Given the description of an element on the screen output the (x, y) to click on. 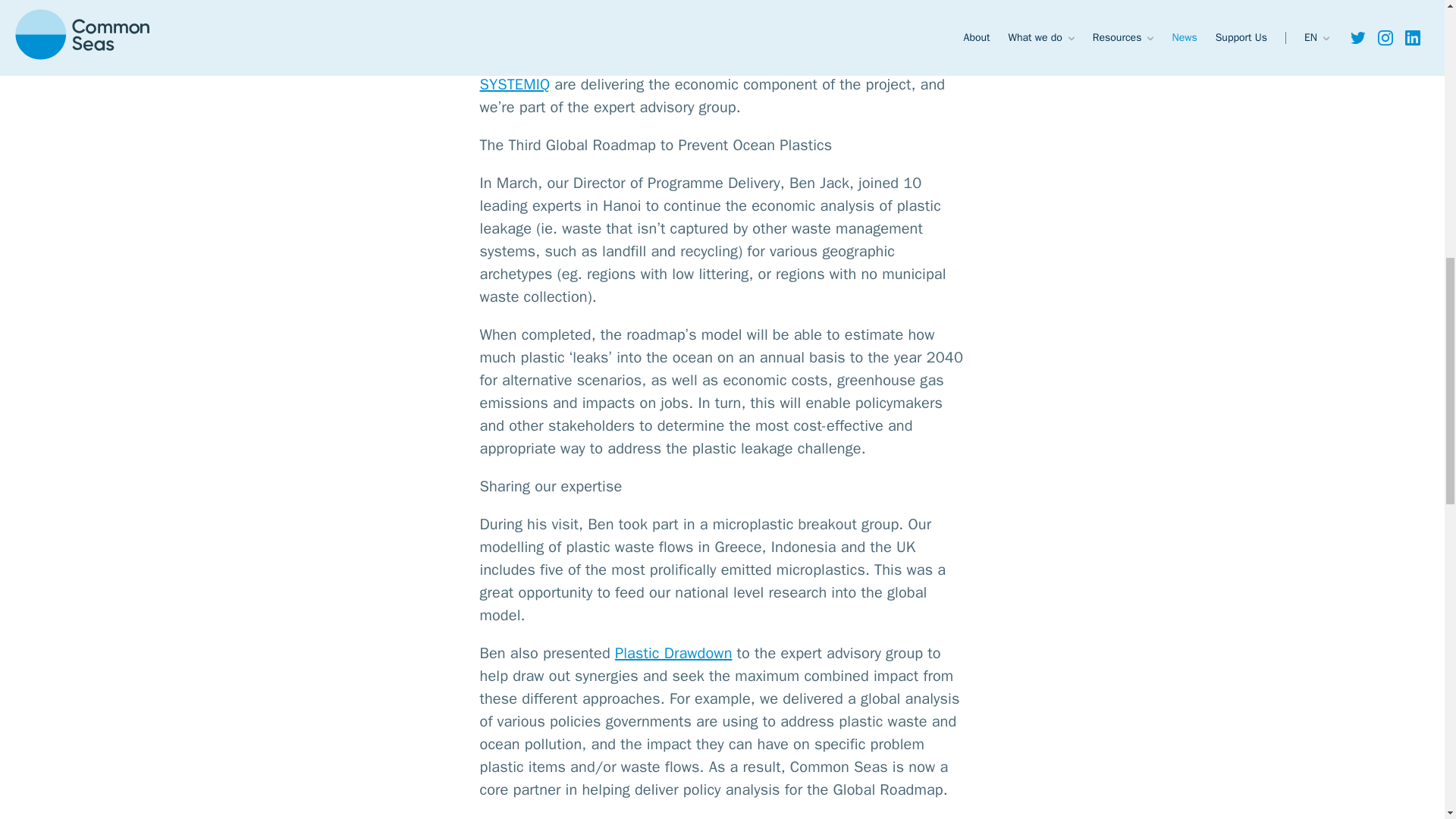
SYSTEMIQ (514, 84)
Plastic Drawdown (794, 15)
Plastic Drawdown (673, 652)
